Given the description of an element on the screen output the (x, y) to click on. 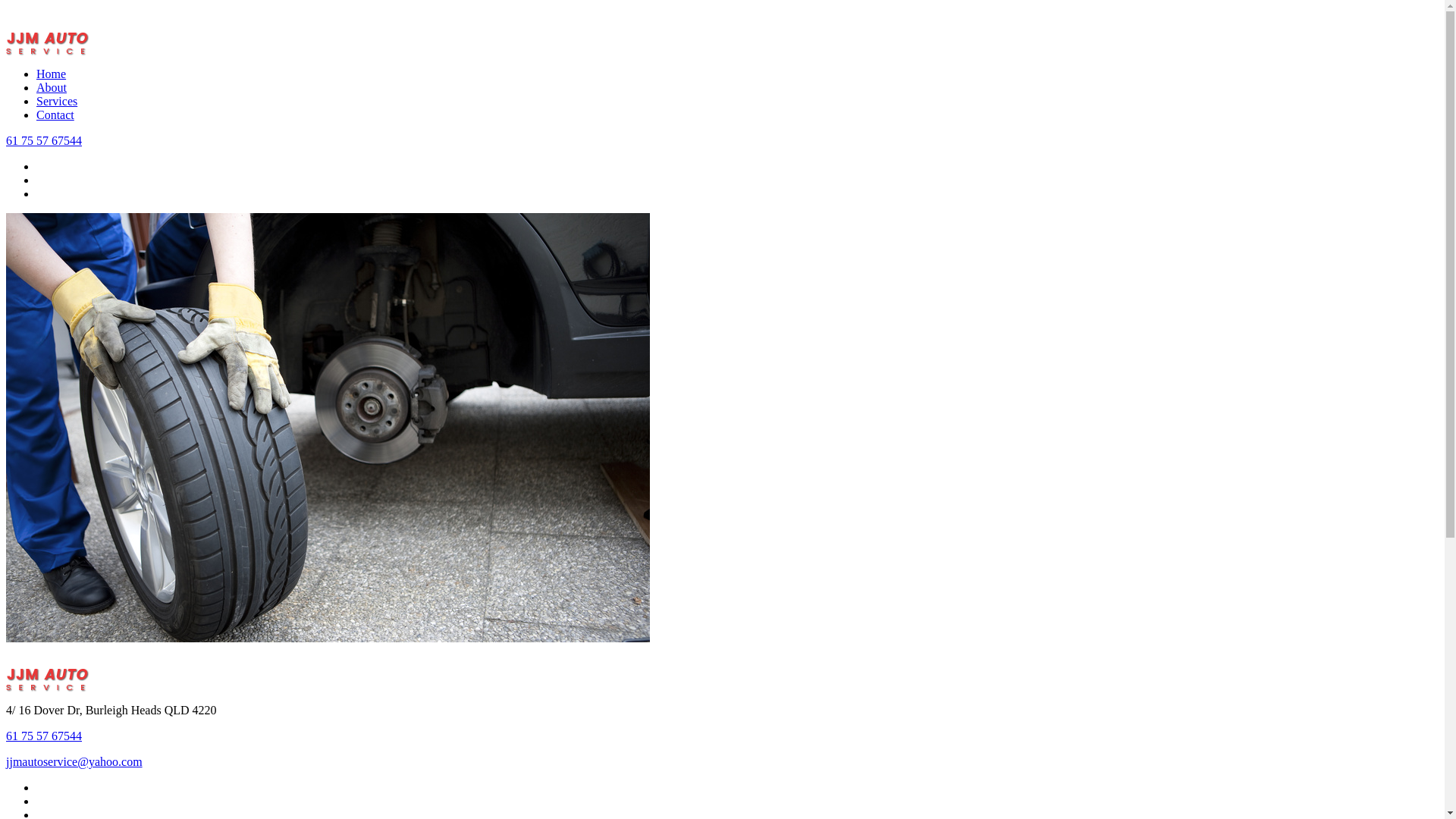
About Element type: text (51, 87)
61 75 57 67544 Element type: text (43, 140)
jjmautoservice@yahoo.com Element type: text (74, 761)
Home Element type: text (50, 73)
Services Element type: text (56, 100)
61 75 57 67544 Element type: text (43, 735)
Contact Element type: text (55, 114)
